Given the description of an element on the screen output the (x, y) to click on. 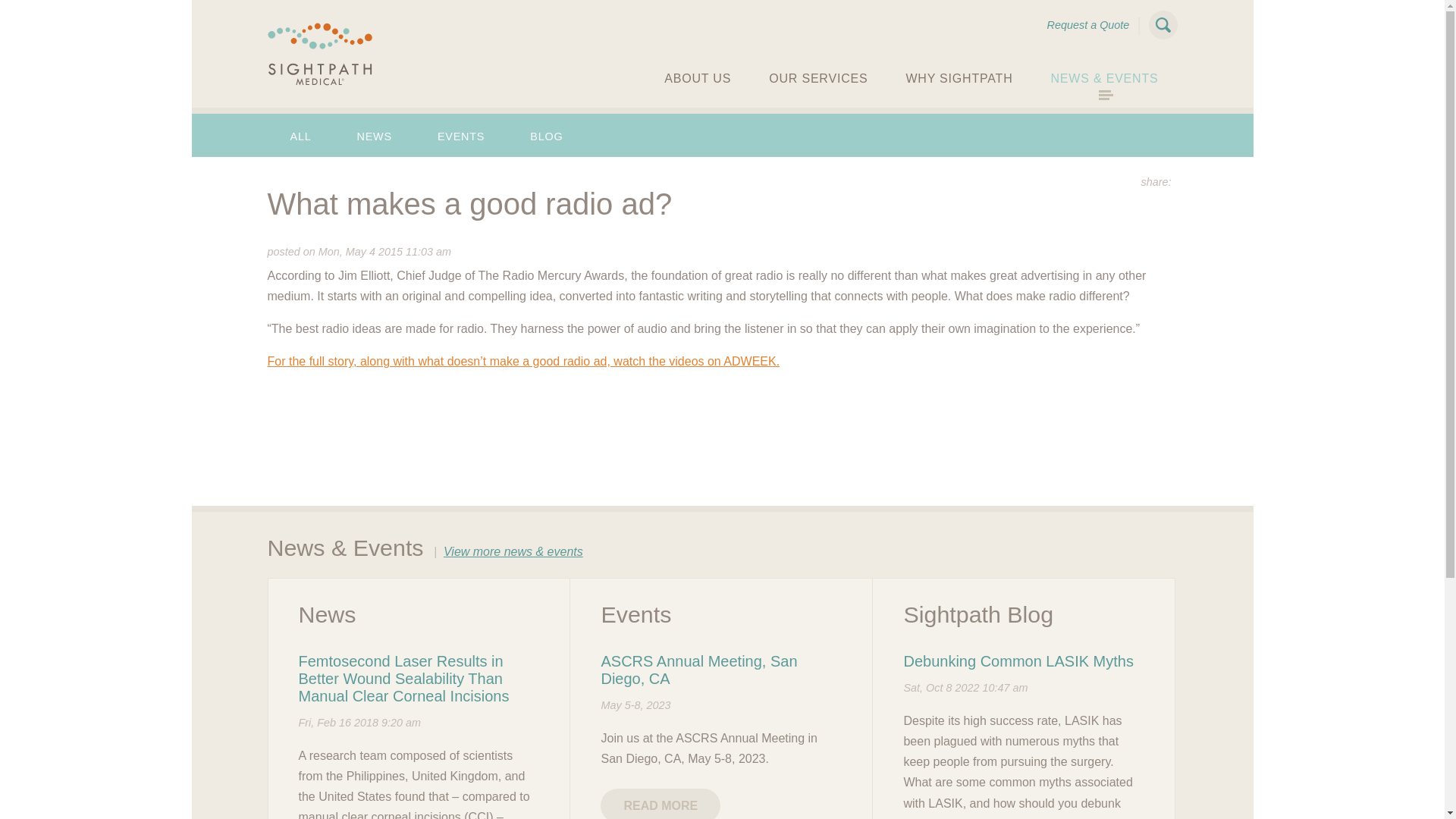
Request a Quote (1087, 24)
EVENTS (460, 136)
Search (1162, 24)
ALL (299, 136)
WHY SIGHTPATH (958, 82)
ABOUT US (697, 82)
BLOG (545, 136)
Sightpath Medical (319, 53)
NEWS (374, 136)
OUR SERVICES (817, 82)
